Given the description of an element on the screen output the (x, y) to click on. 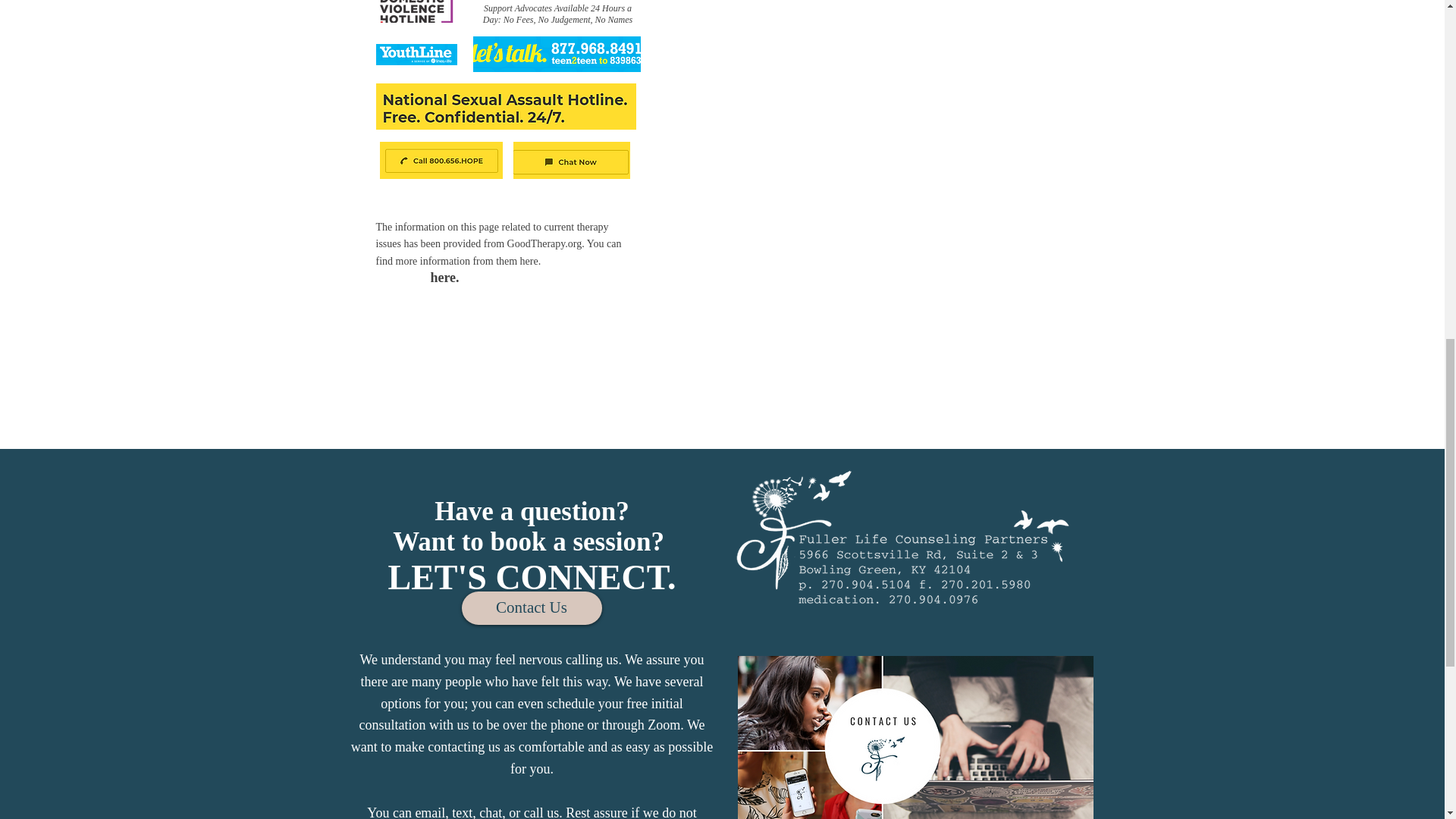
sexual assault 3.PNG (570, 160)
sexual assualt 1.PNG (505, 106)
youth line 1.PNG (416, 54)
youth line 2.PNG (556, 54)
sexual assault 2.PNG (440, 160)
domestic violence.png (416, 11)
